Given the description of an element on the screen output the (x, y) to click on. 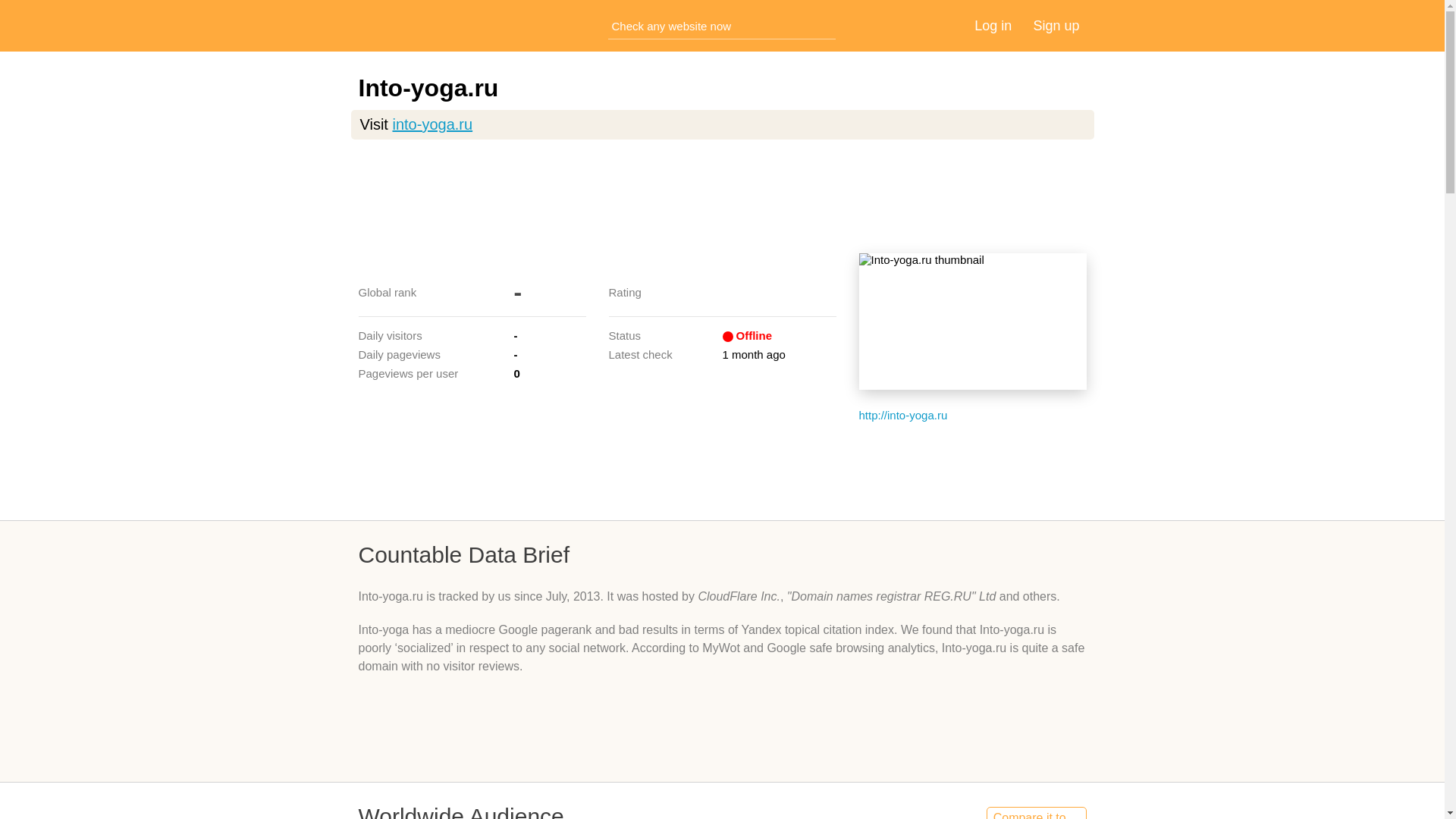
into-yoga.ru (431, 124)
Compare it to ... (1036, 812)
Sign up (1056, 25)
Log in (992, 25)
Into-yoga.ru thumbnail (972, 321)
